Given the description of an element on the screen output the (x, y) to click on. 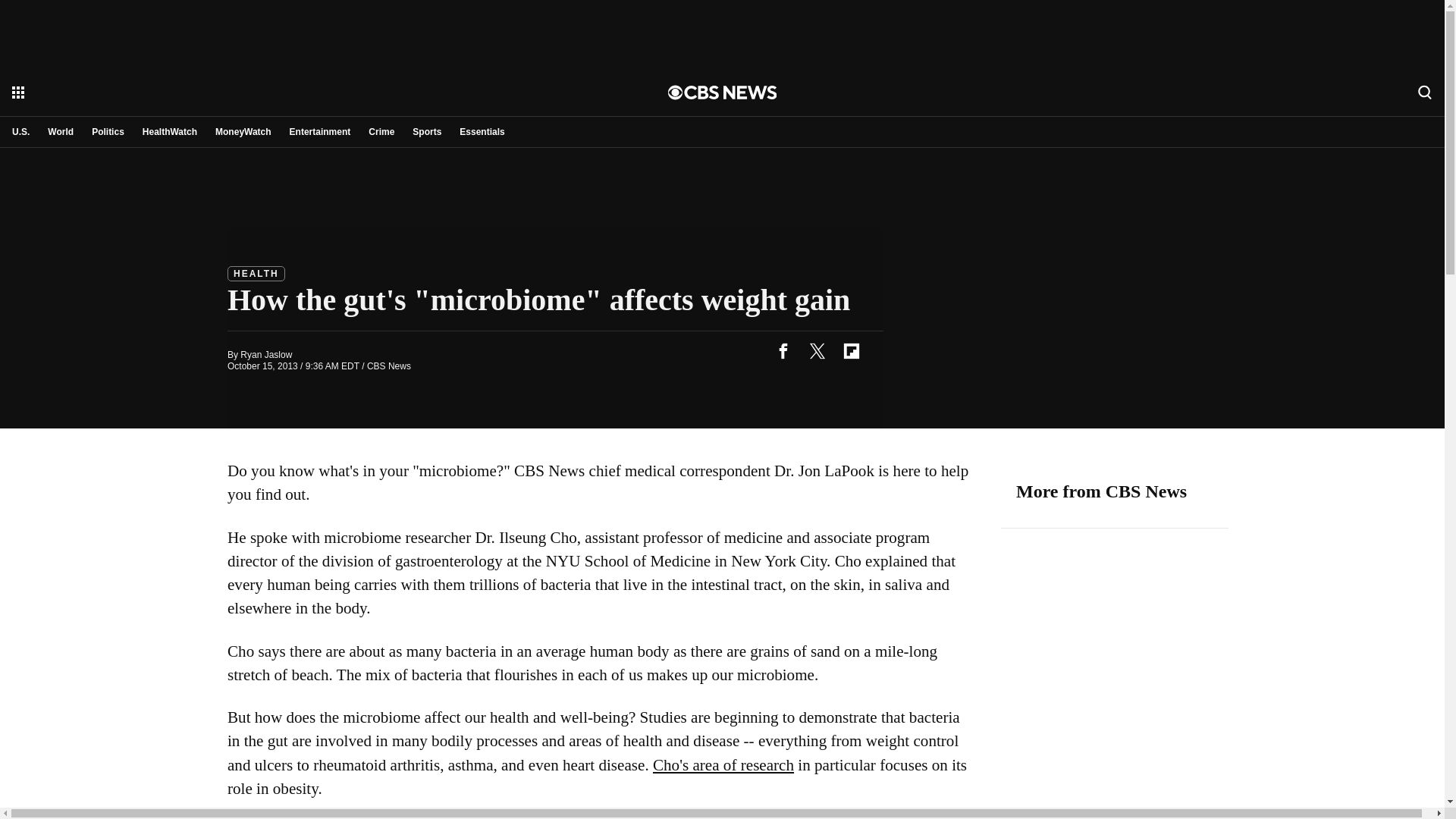
flipboard (850, 350)
twitter (816, 350)
facebook (782, 350)
